Given the description of an element on the screen output the (x, y) to click on. 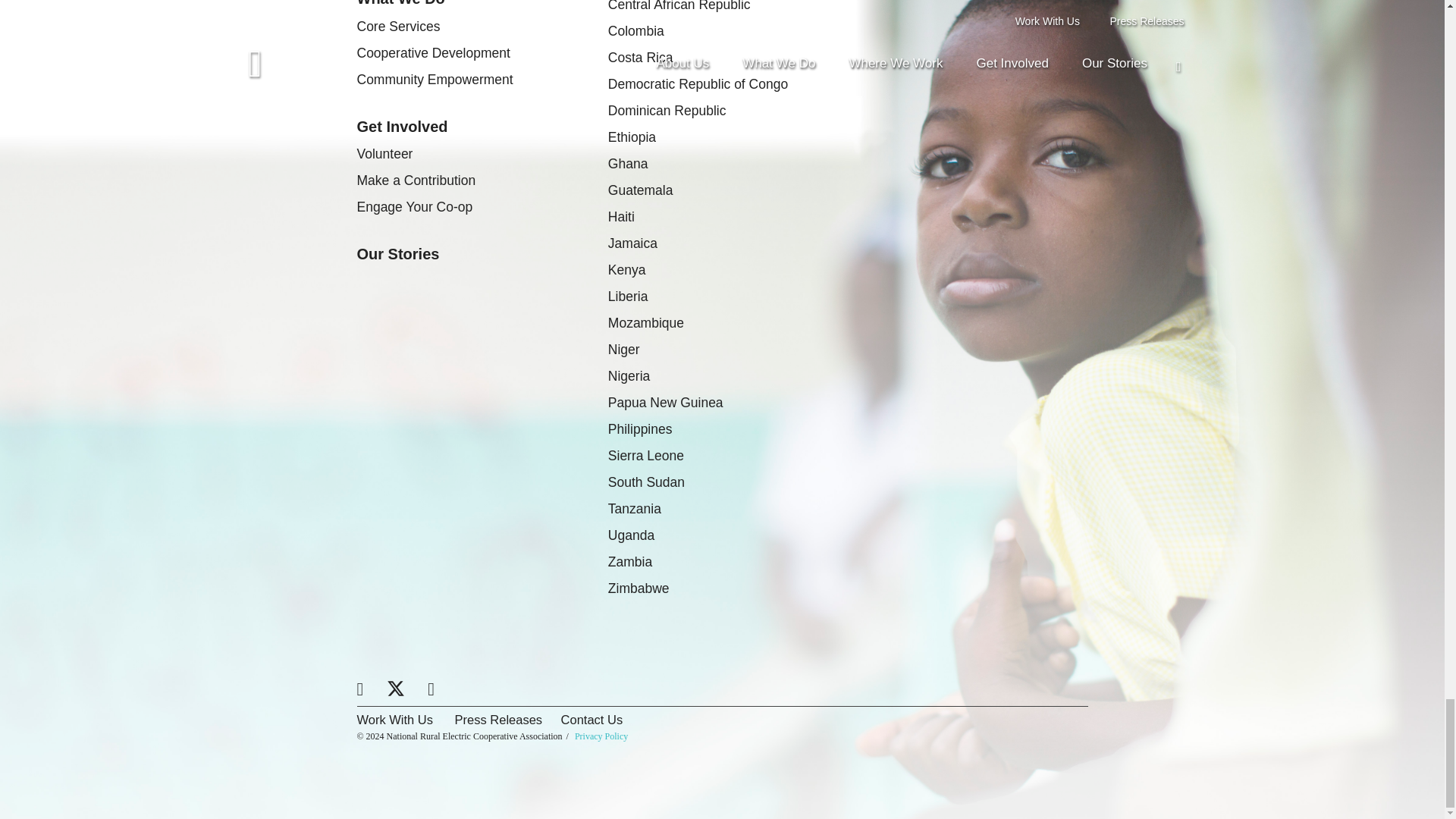
Privacy Policy (601, 736)
